Given the description of an element on the screen output the (x, y) to click on. 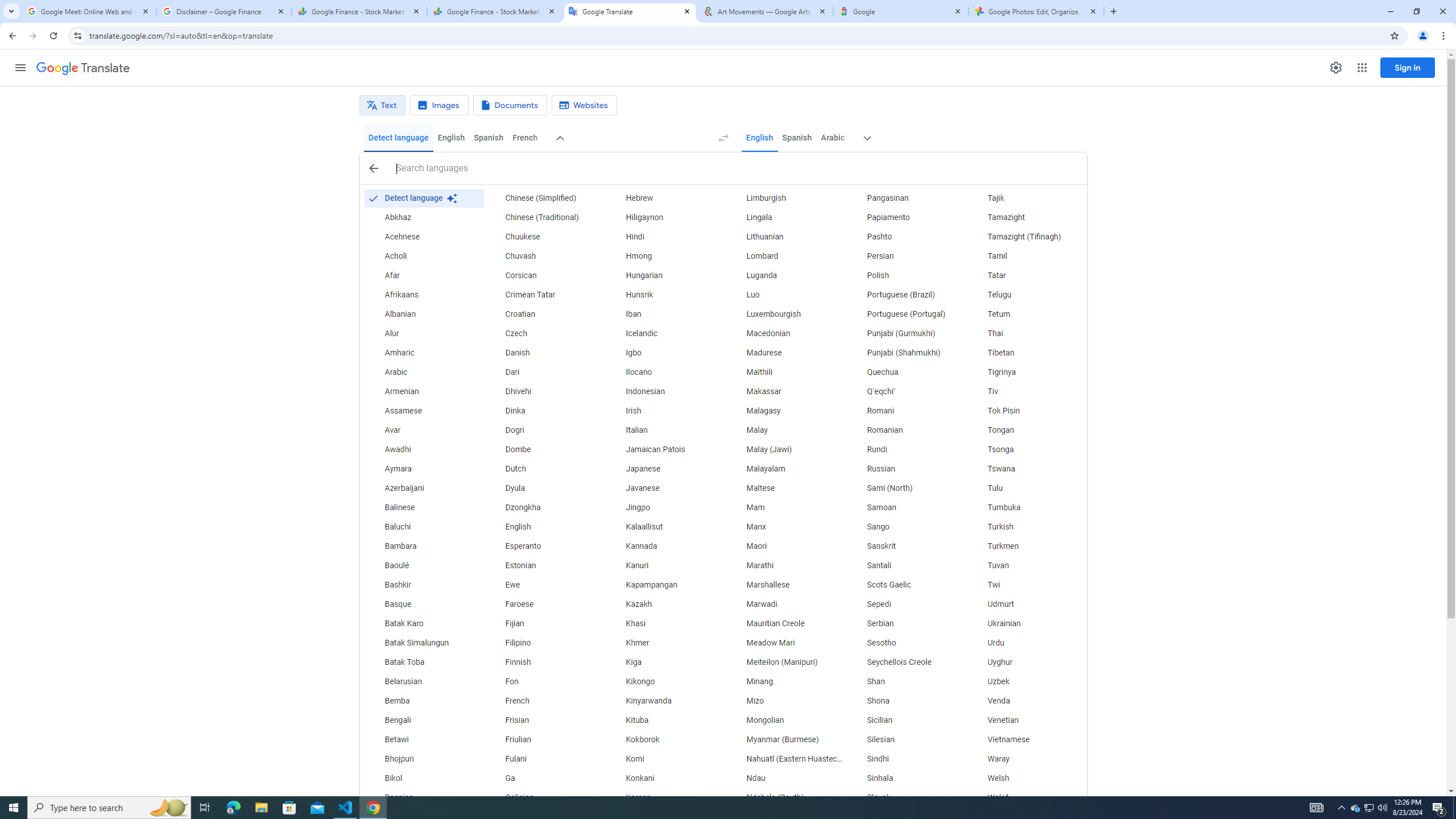
Luxembourgish (785, 314)
Main menu (20, 67)
Hmong (665, 256)
Vietnamese (1026, 739)
Waray (1026, 759)
Komi (665, 759)
Sinhala (905, 778)
Minang (785, 682)
Tajik (1026, 198)
Ewe (544, 584)
Sindhi (905, 759)
Myanmar (Burmese) (785, 739)
